Given the description of an element on the screen output the (x, y) to click on. 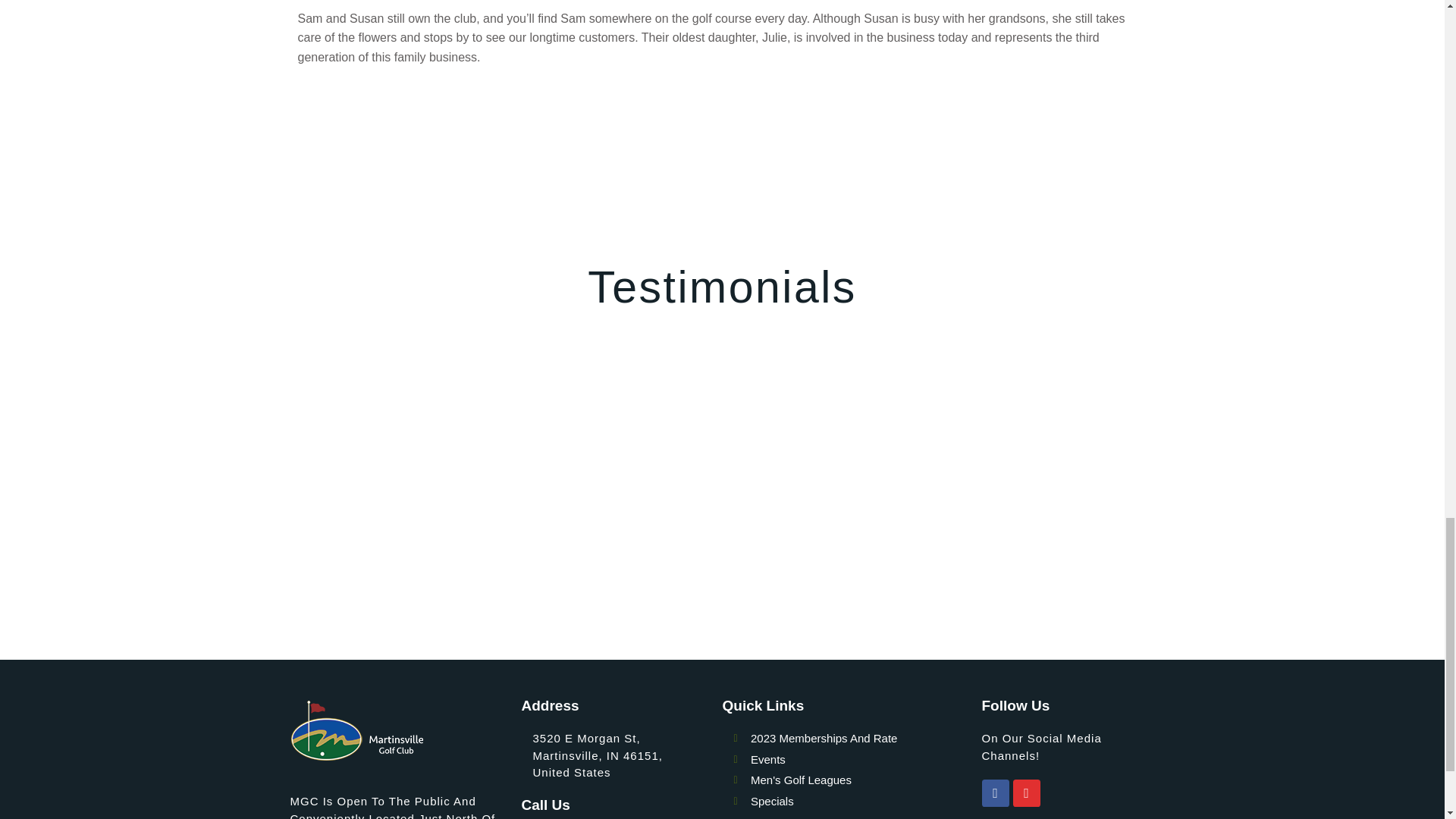
Men's Golf Leagues (857, 780)
Events (857, 760)
2023 Memberships And Rate (857, 738)
Instagram (1027, 792)
Specials (857, 801)
Facebook (995, 792)
